Given the description of an element on the screen output the (x, y) to click on. 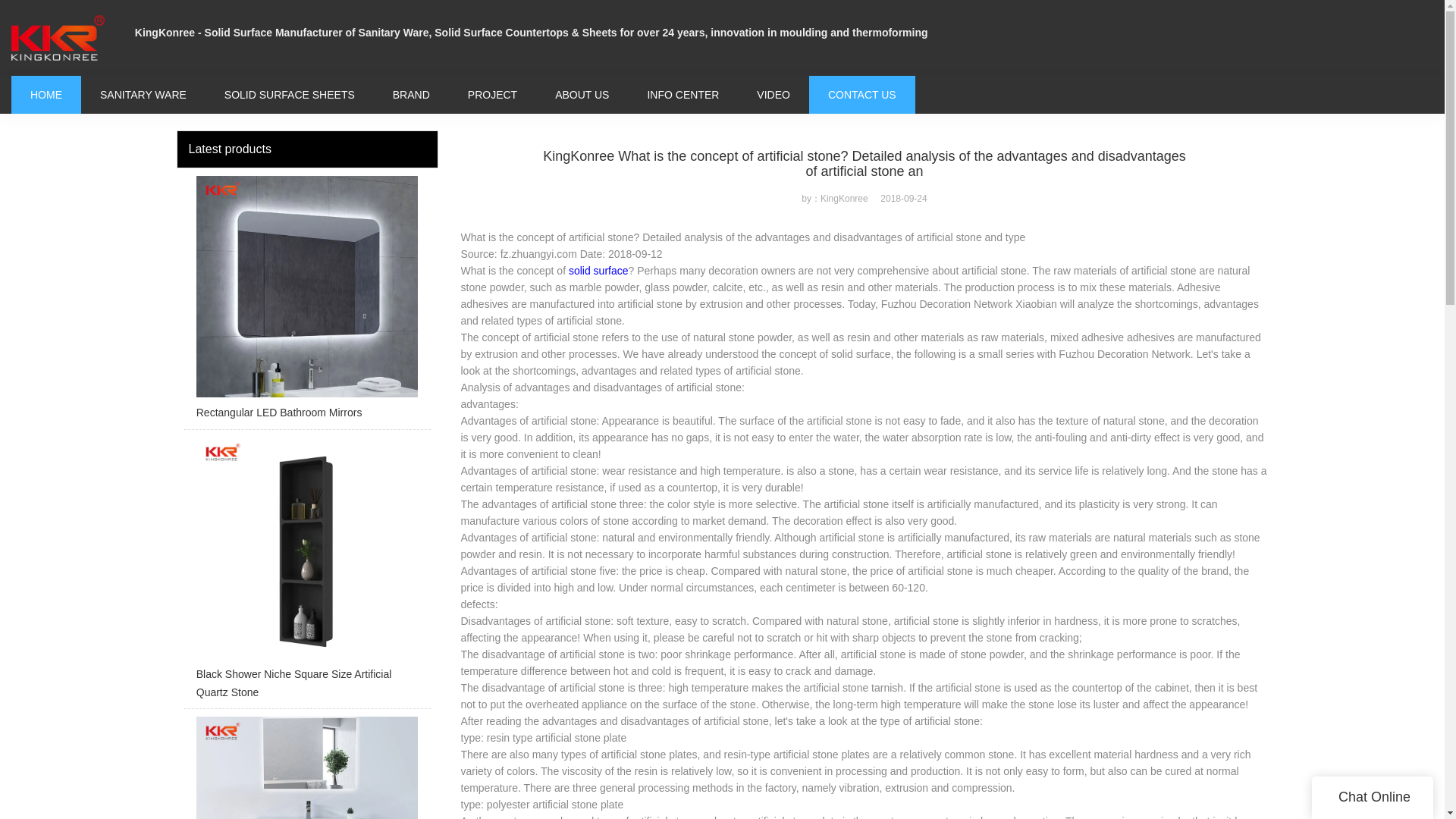
SANITARY WARE (143, 94)
HOME (46, 94)
